Given the description of an element on the screen output the (x, y) to click on. 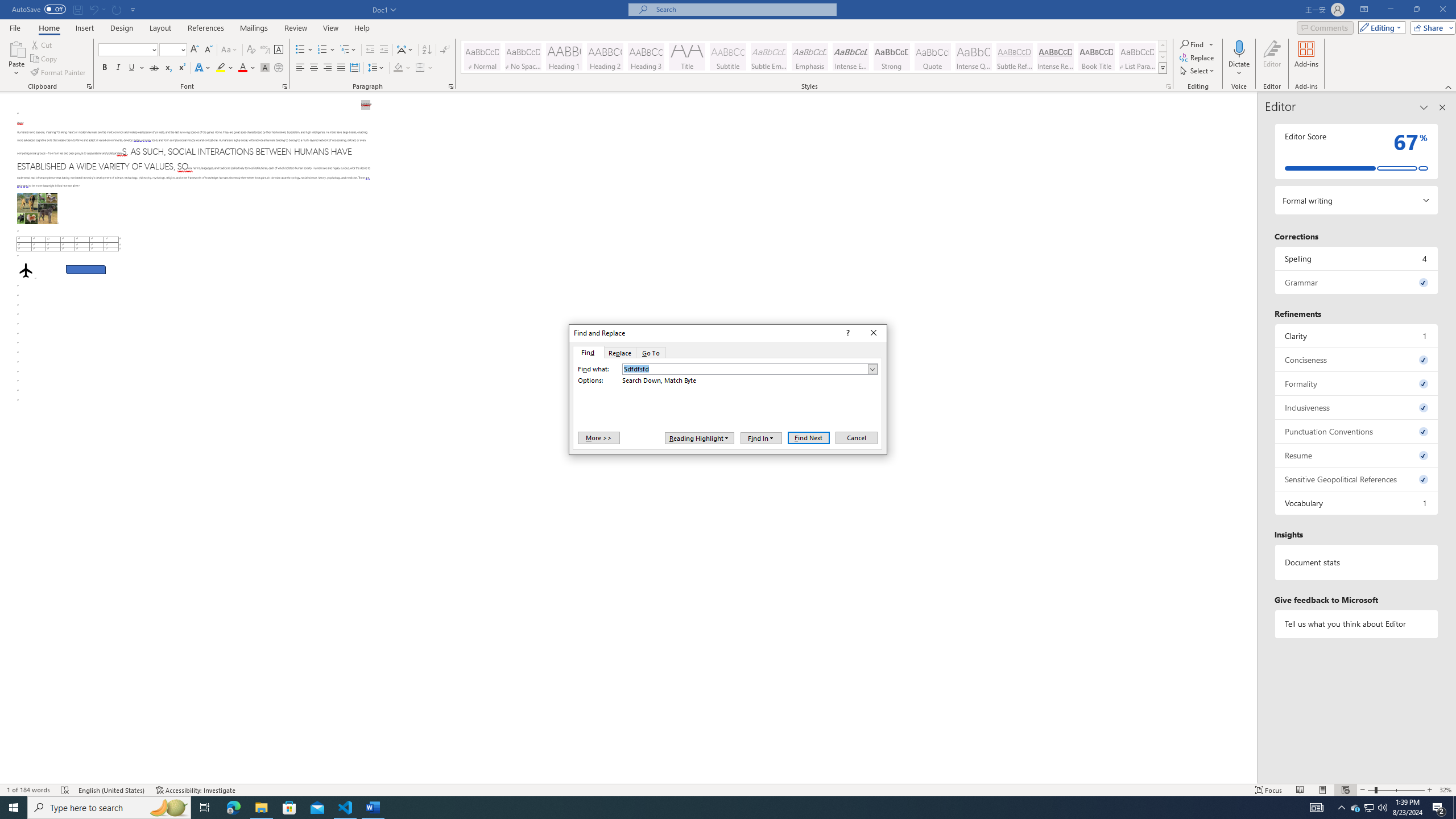
File Explorer - 1 running window (261, 807)
Book Title (1095, 56)
Heading 3 (646, 56)
Document statistics (1356, 561)
More >> (598, 437)
